Given the description of an element on the screen output the (x, y) to click on. 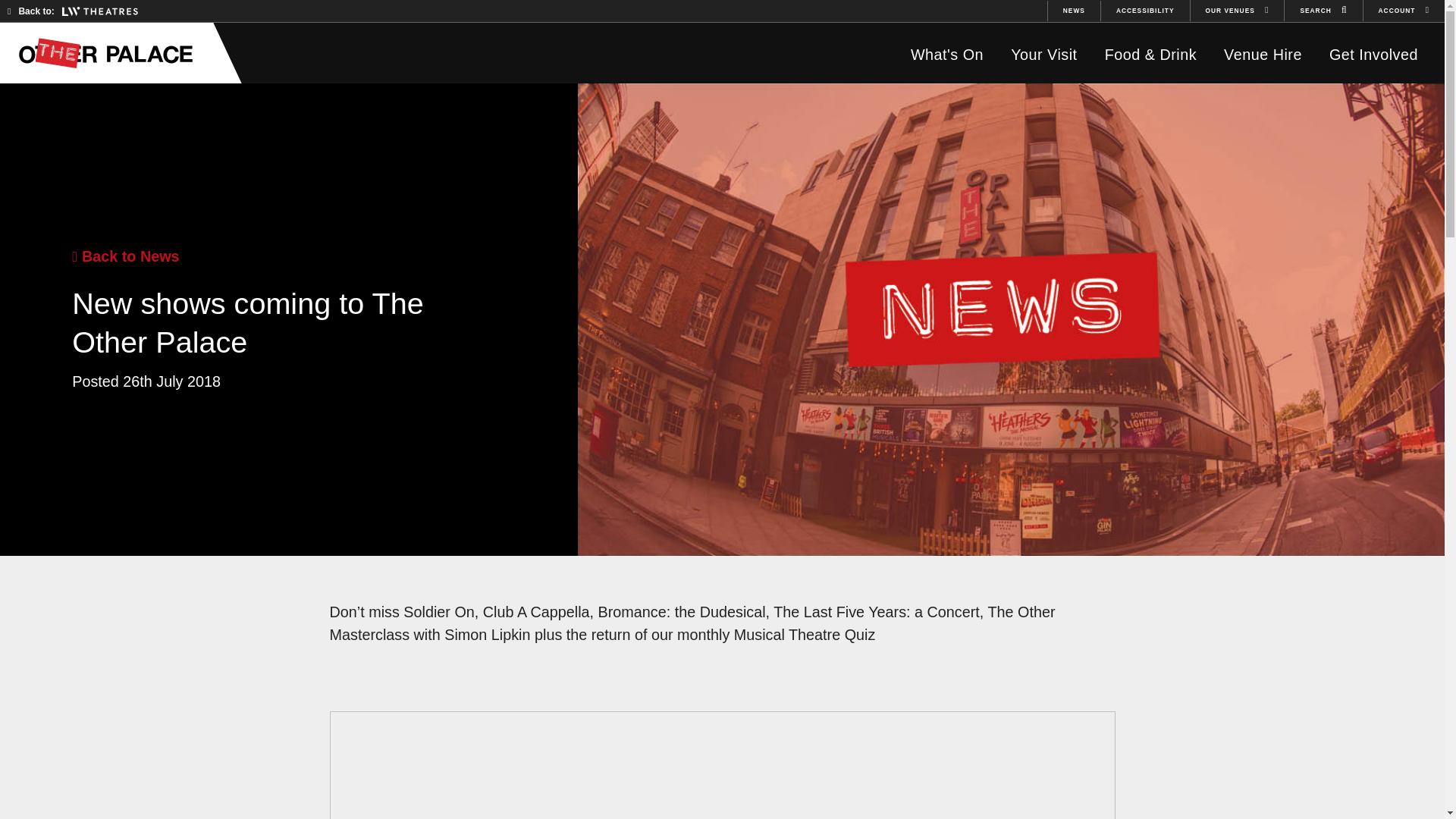
The Other Palace Theatre (113, 52)
Get Involved (1373, 54)
OUR VENUES (1237, 10)
Back to: (72, 10)
ACCESSIBILITY (1144, 10)
What's On (946, 54)
NEWS (1074, 10)
Venue Hire (1262, 54)
SEARCH (1322, 10)
Your Visit (1042, 54)
Back to News (125, 256)
